Given the description of an element on the screen output the (x, y) to click on. 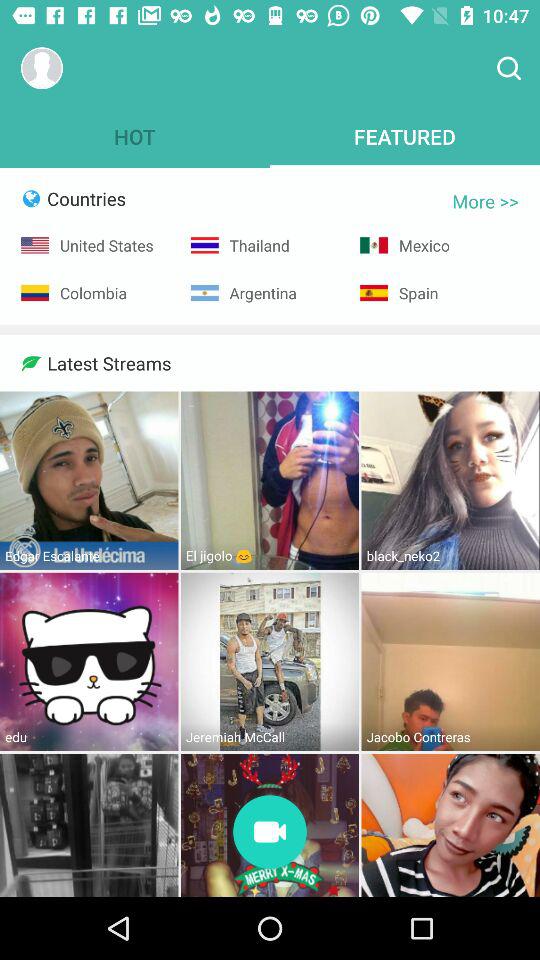
profile (42, 68)
